Given the description of an element on the screen output the (x, y) to click on. 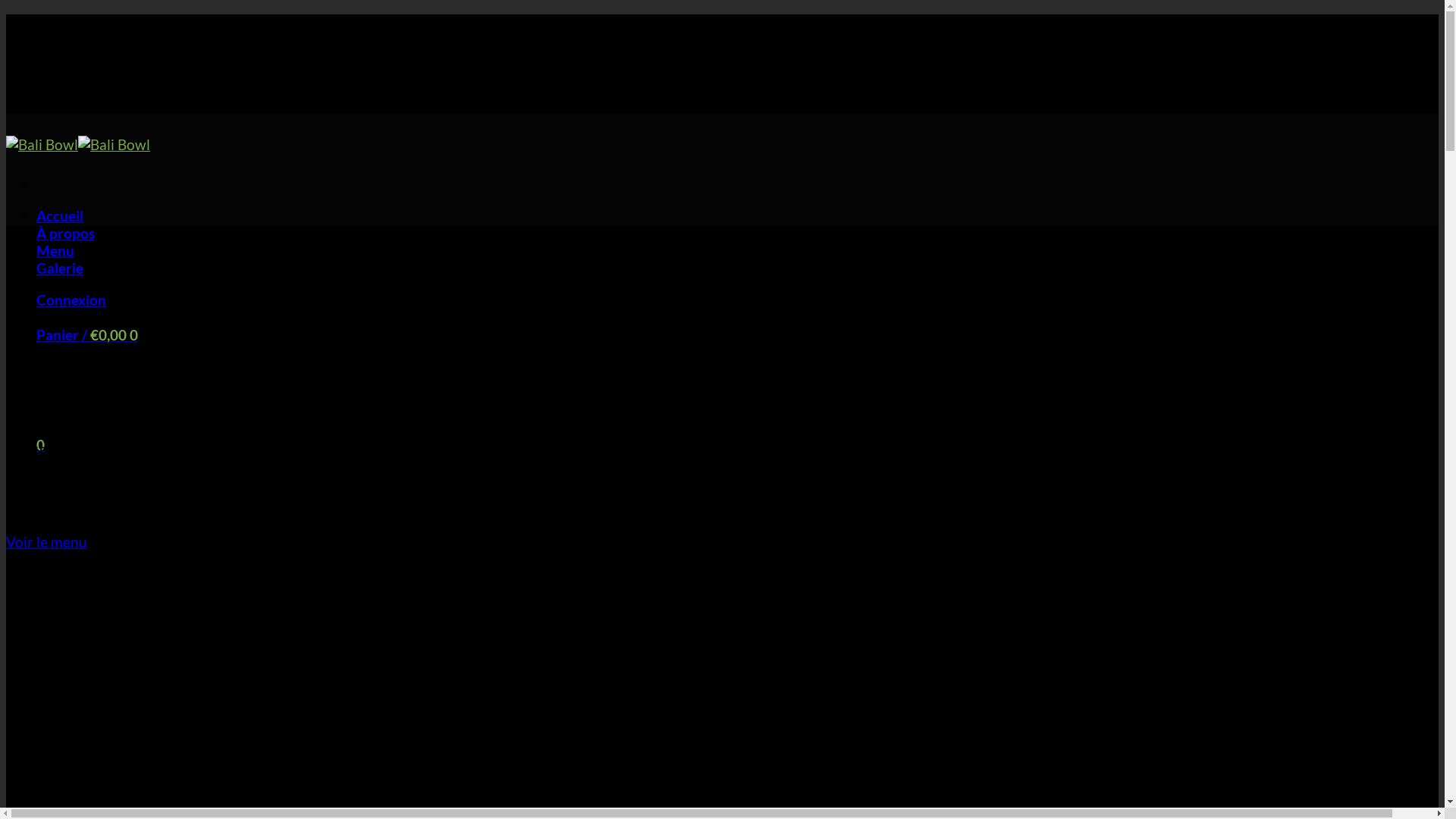
Voir le menu Element type: text (46, 541)
10:30 - 19:30 Element type: text (109, 104)
10:30 - 19:30 Element type: text (109, 54)
Accueil Element type: text (59, 215)
0 Element type: text (40, 444)
Galerie Element type: text (59, 267)
Connexion Element type: text (71, 299)
Bali Bowl Element type: hover (78, 144)
Skip to content Element type: text (5, 13)
Menu Element type: text (55, 250)
